Given the description of an element on the screen output the (x, y) to click on. 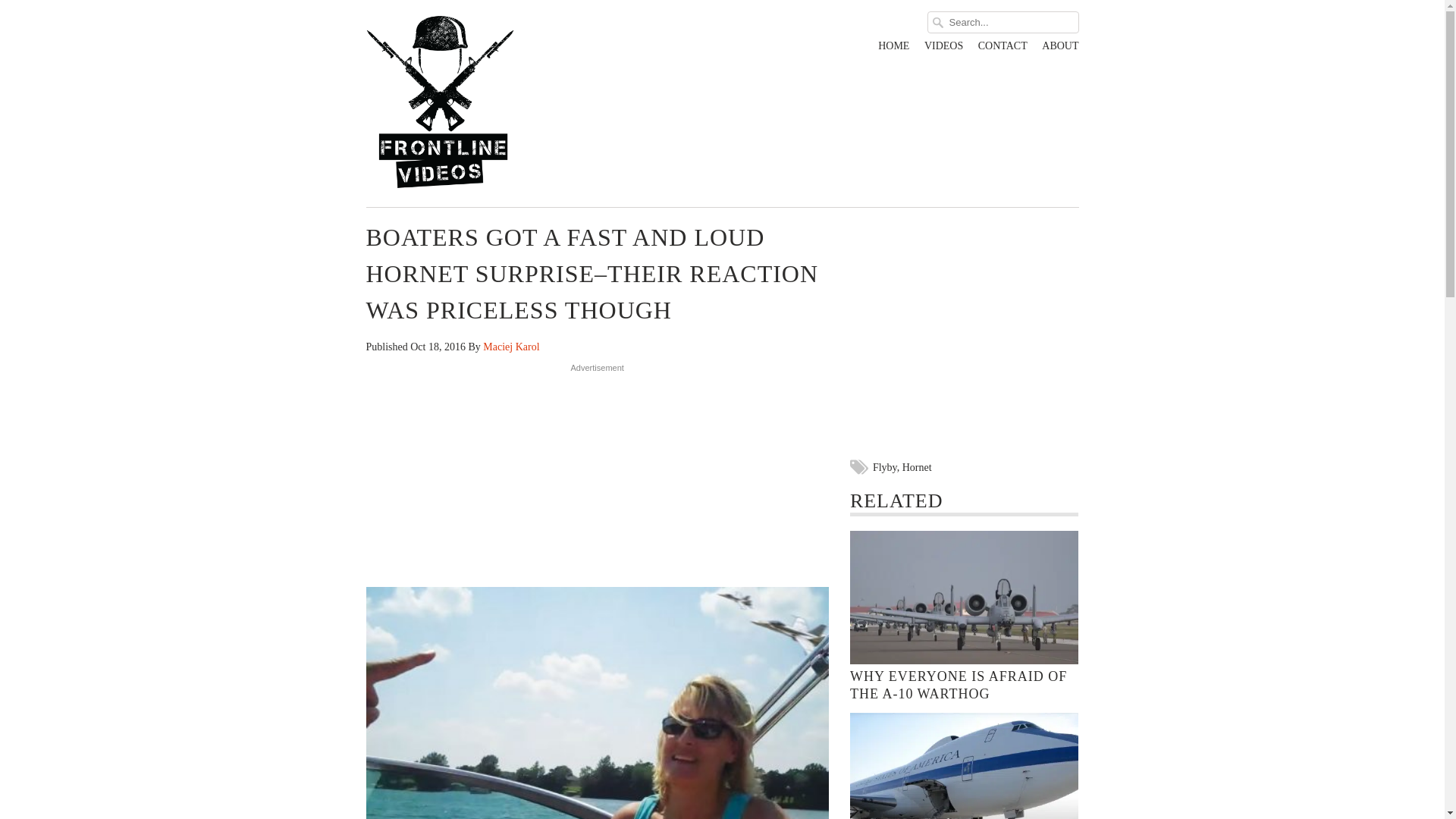
ABOUT (1060, 49)
Hornet (916, 467)
Frontline Videos (478, 103)
WHY EVERYONE IS AFRAID OF THE A-10 WARTHOG (958, 685)
CONTACT (1002, 49)
Advertisement (964, 335)
VIDEOS (943, 49)
Maciej Karol (510, 346)
Advertisement (597, 470)
Search (1093, 38)
Why Everyone is Afraid of the A-10 Warthog (958, 685)
Flyby (884, 467)
HOME (892, 49)
Search (1093, 38)
